Given the description of an element on the screen output the (x, y) to click on. 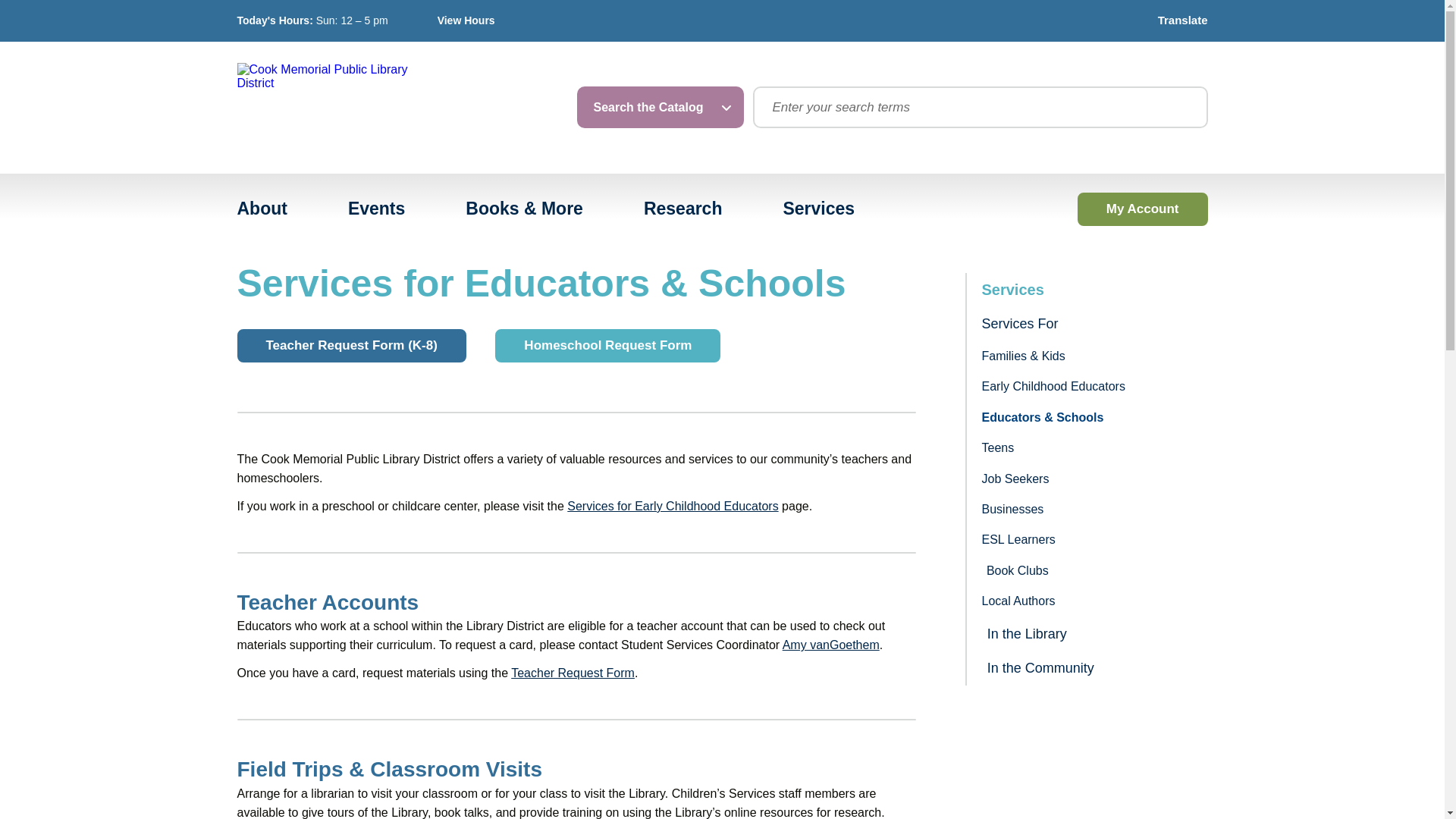
Fill Out the Teacher Request Form (350, 345)
Events (376, 209)
Fill Out Homeschool Request Form (607, 345)
About (261, 209)
